Given the description of an element on the screen output the (x, y) to click on. 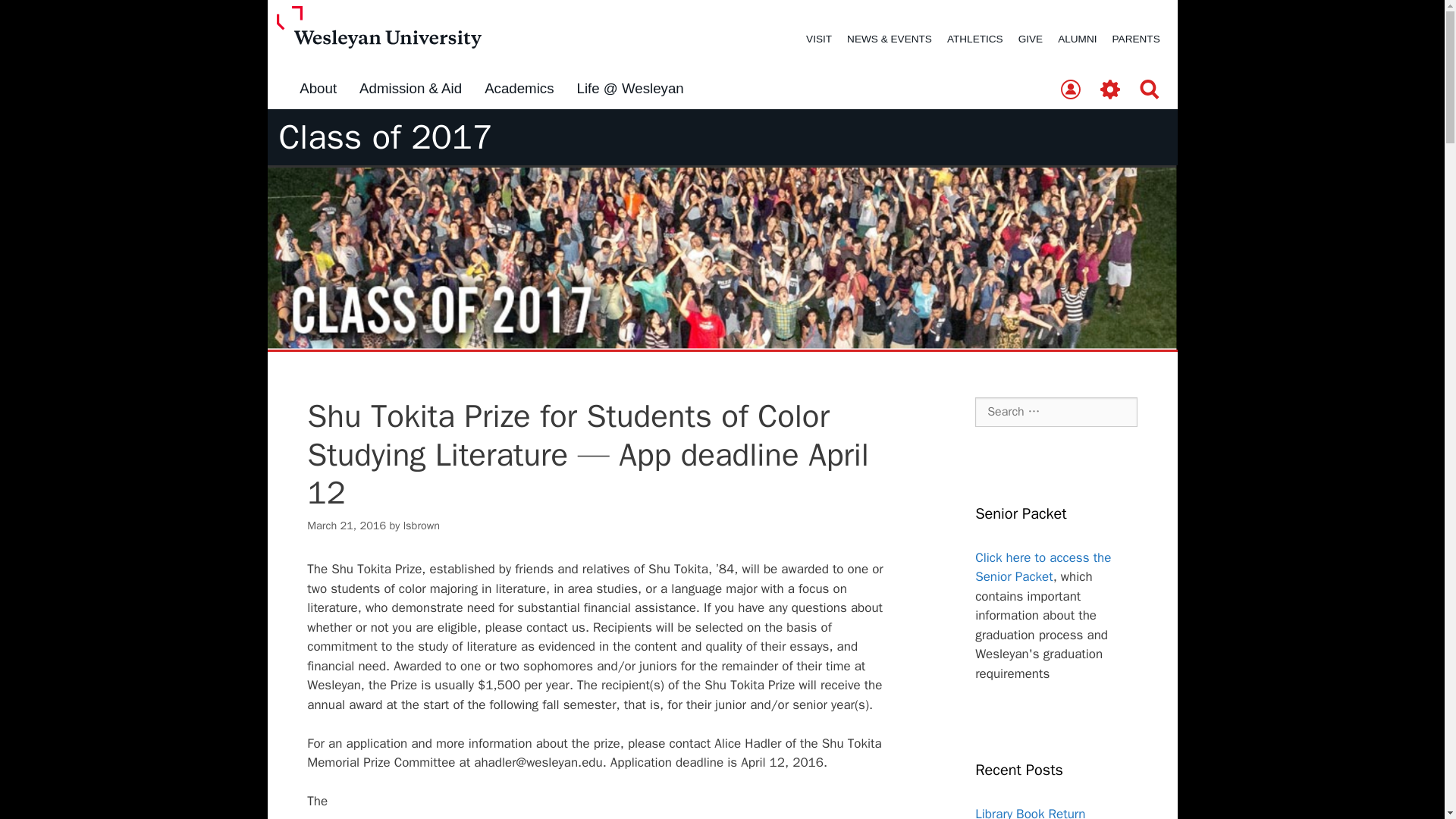
GIVE (1029, 39)
Tools (1109, 90)
Search (35, 18)
Click here to access the Senior Packet (1042, 567)
Search (1149, 90)
Directory (1069, 90)
Class of 2017 (386, 137)
About (317, 89)
Academics (518, 89)
PARENTS (1136, 39)
VISIT (818, 39)
Search for: (1056, 411)
View all posts by lsbrown (421, 525)
ALUMNI (1076, 39)
ATHLETICS (974, 39)
